Given the description of an element on the screen output the (x, y) to click on. 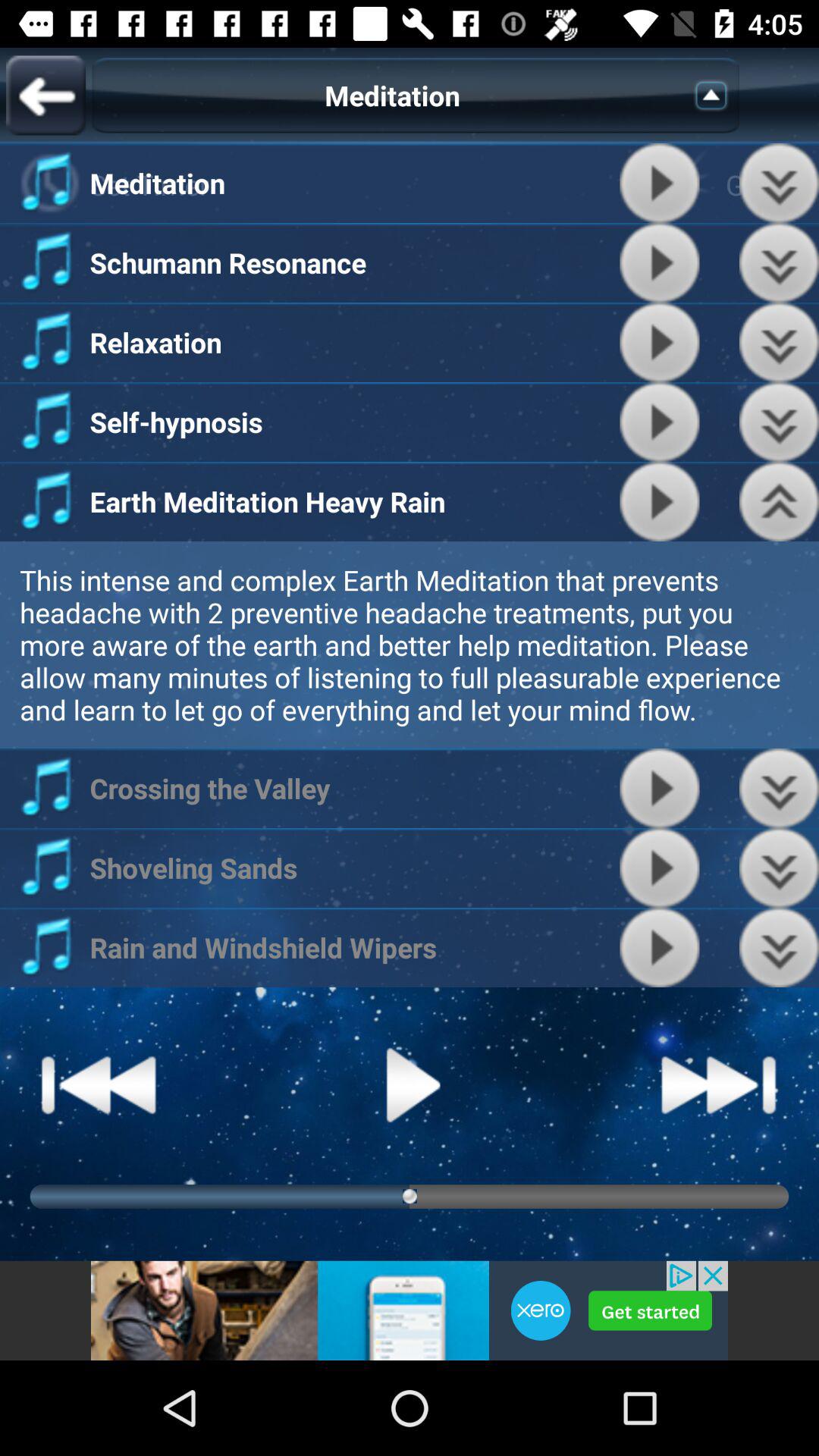
go to pause (409, 1084)
